Given the description of an element on the screen output the (x, y) to click on. 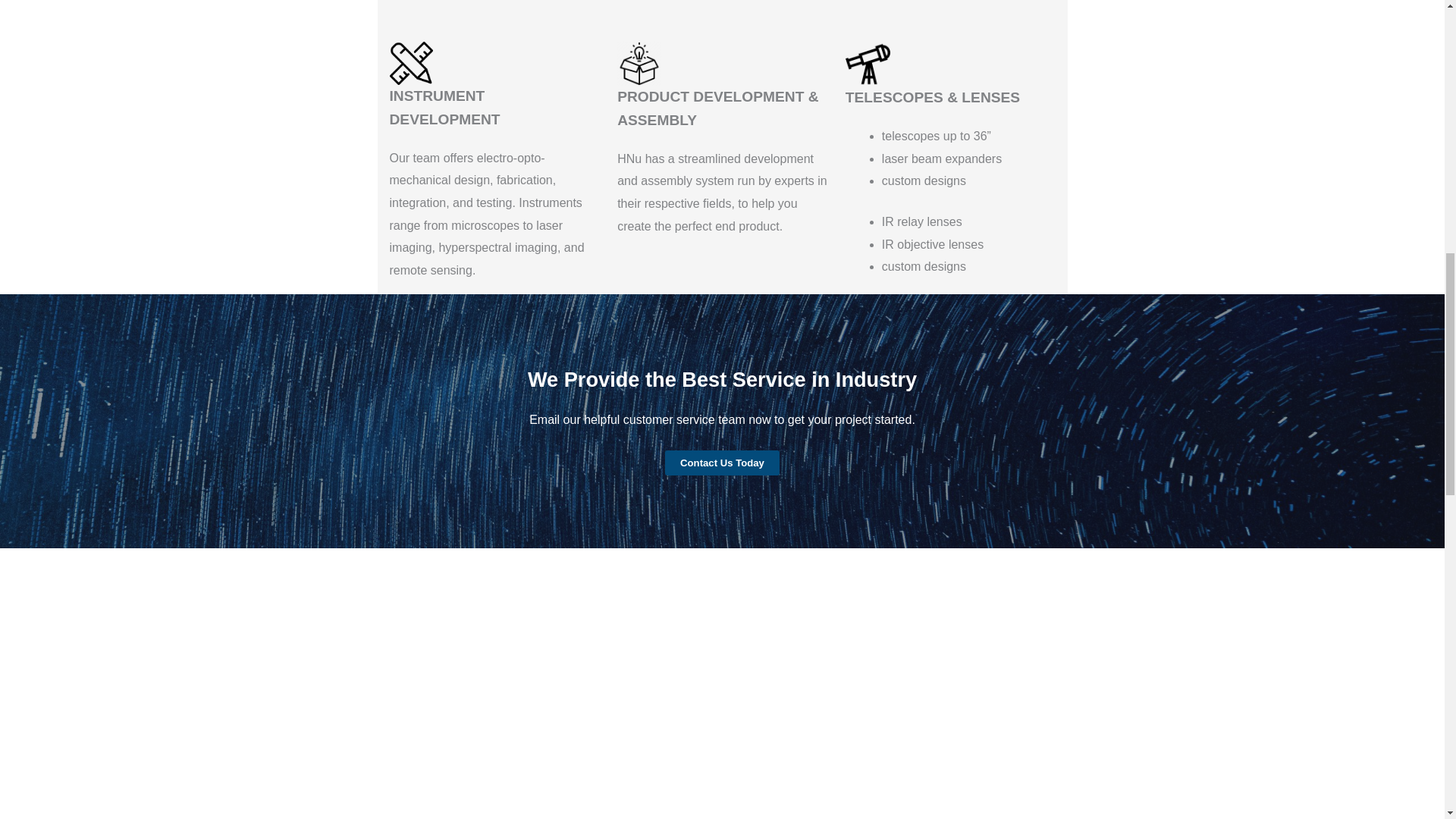
Contact Us Today (721, 462)
